Given the description of an element on the screen output the (x, y) to click on. 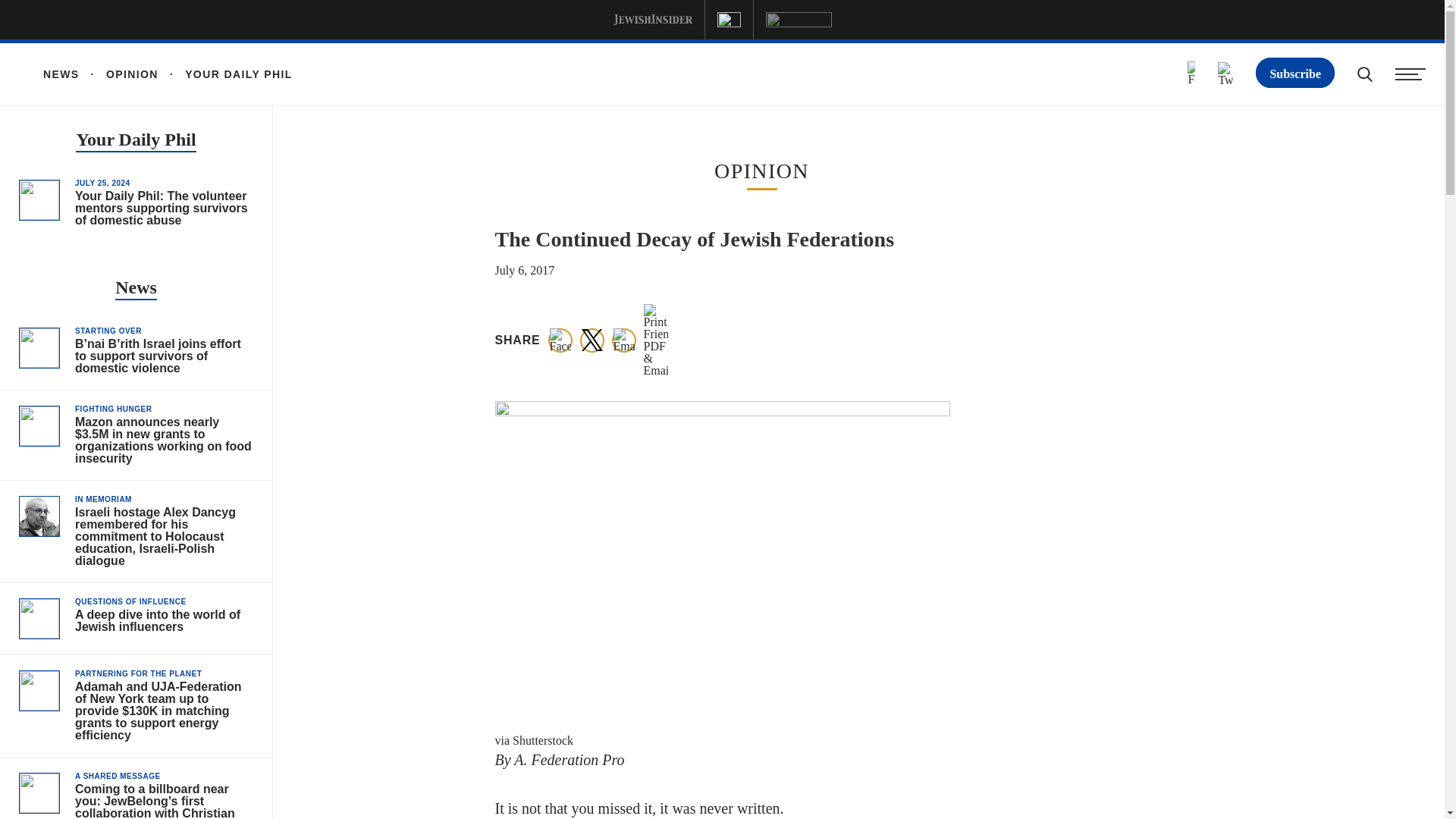
OPINION (119, 73)
YOUR DAILY PHIL (225, 73)
Your Daily Phil (135, 141)
Subscribe (1295, 72)
News (136, 289)
NEWS (61, 73)
